Given the description of an element on the screen output the (x, y) to click on. 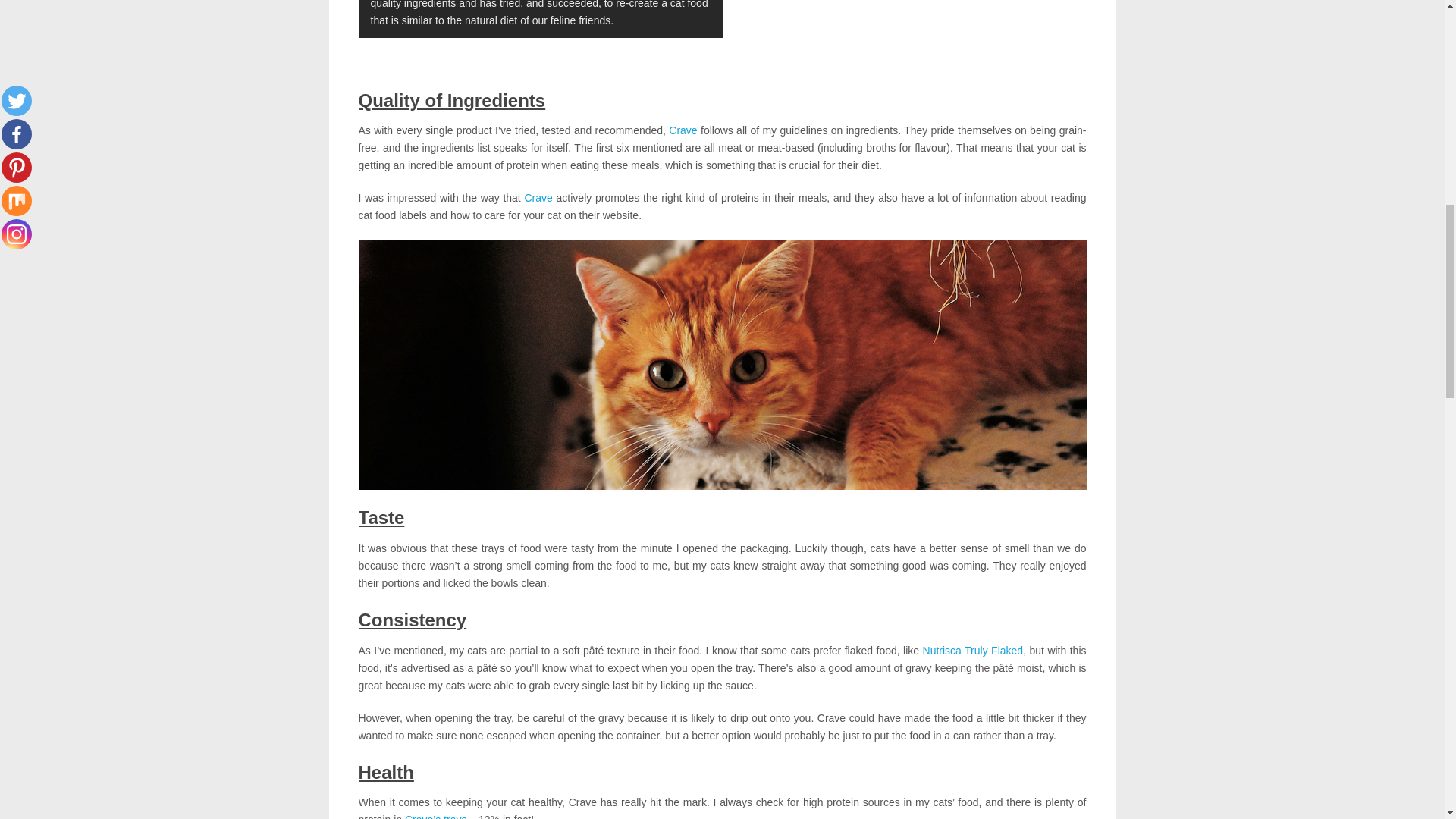
Crave (537, 197)
Crave (682, 130)
Nutrisca Truly Flaked (973, 650)
